Given the description of an element on the screen output the (x, y) to click on. 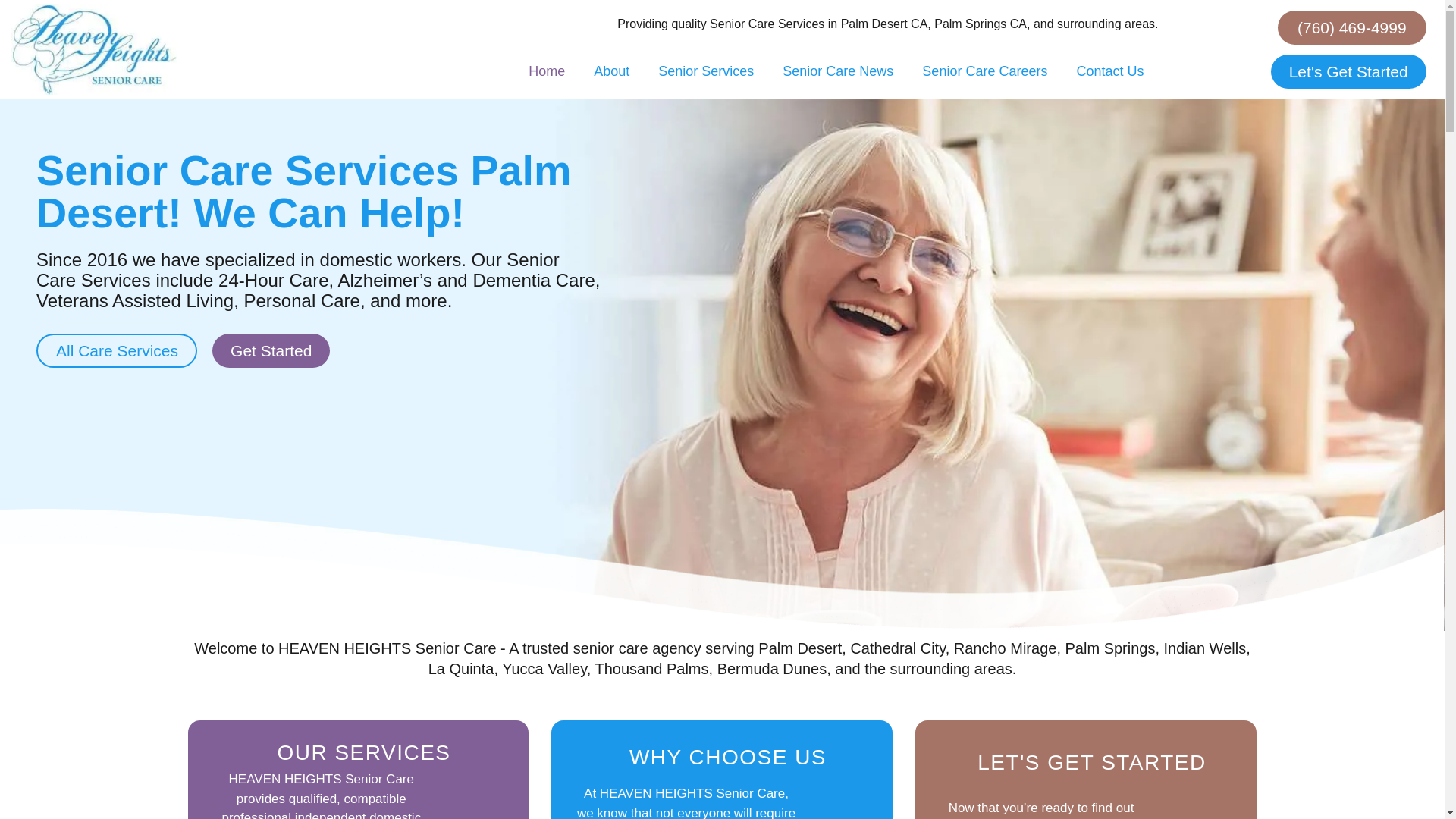
Contact Us (1109, 70)
Senior Services (705, 70)
About (611, 70)
Get Started (271, 350)
Senior Care Careers (984, 70)
Let's Get Started (1348, 71)
All Care Services (116, 350)
Home (546, 70)
Senior Care News (837, 70)
